Given the description of an element on the screen output the (x, y) to click on. 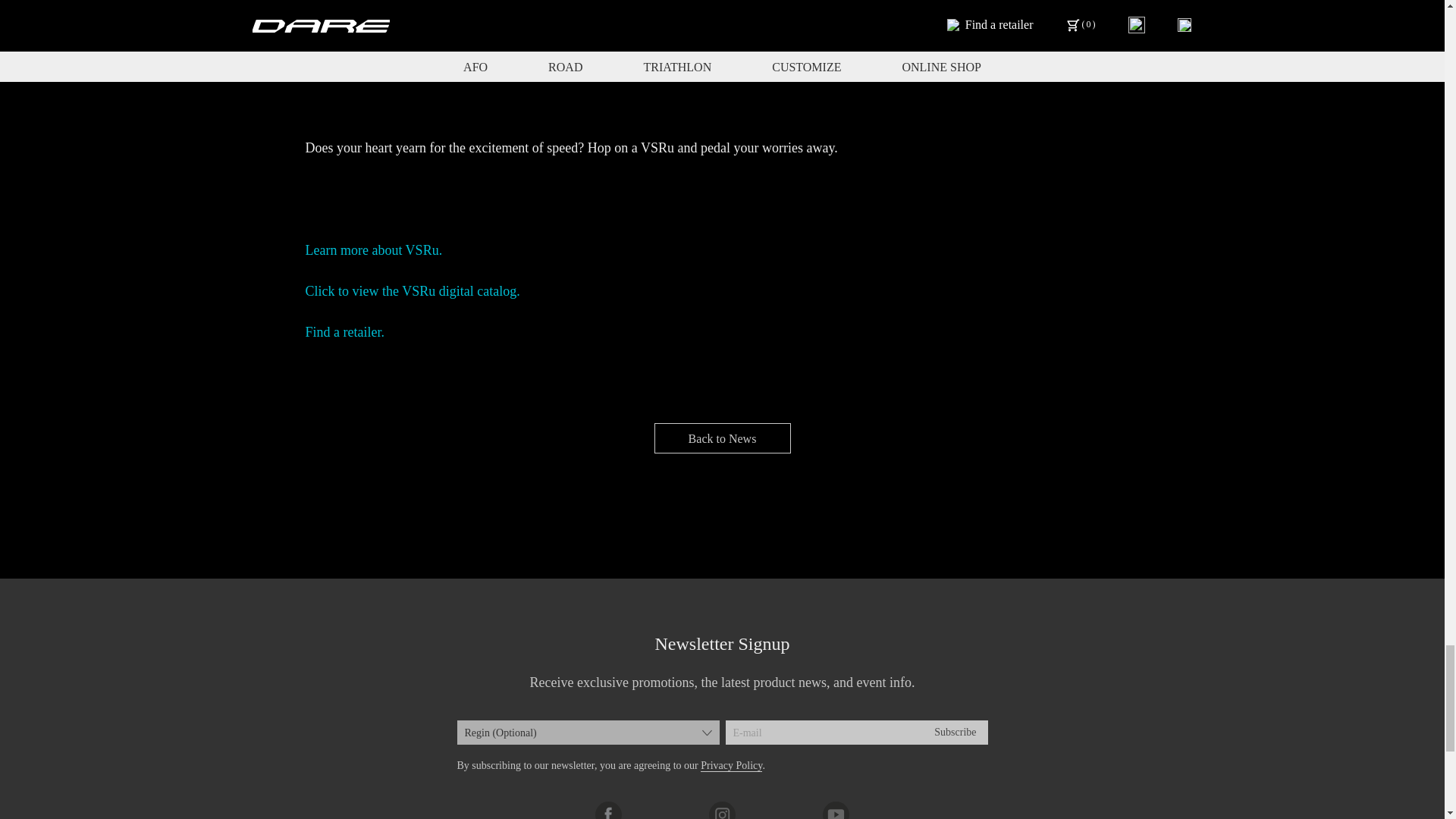
Youtube (835, 808)
Subscribe (955, 732)
Instagram (722, 810)
Facebook (608, 810)
Instagram (721, 808)
Youtube (835, 810)
Facebook (608, 808)
